Given the description of an element on the screen output the (x, y) to click on. 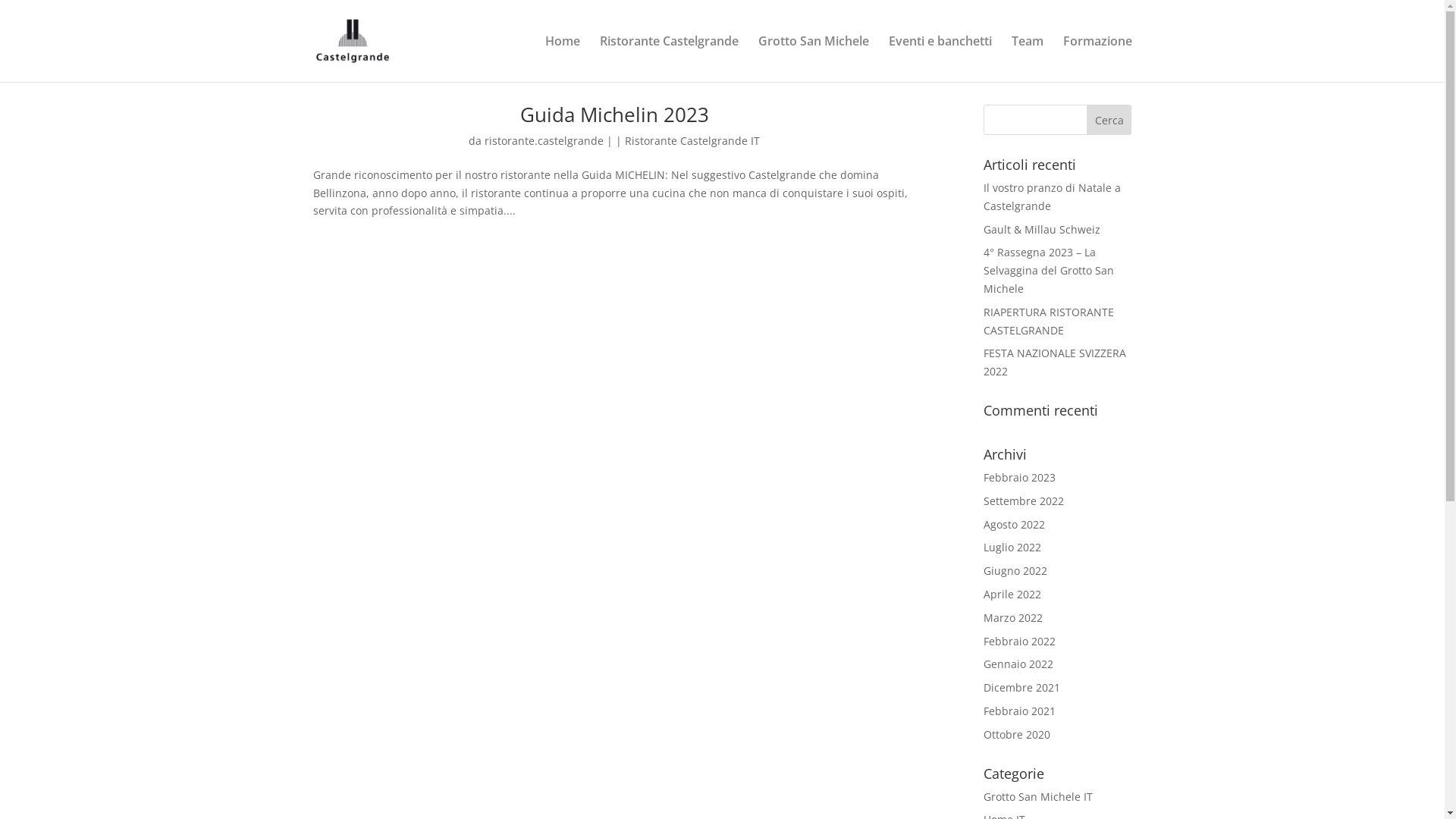
Il vostro pranzo di Natale a Castelgrande Element type: text (1051, 196)
Formazione Element type: text (1097, 58)
Grotto San Michele IT Element type: text (1037, 796)
Gennaio 2022 Element type: text (1018, 663)
Ristorante Castelgrande IT Element type: text (691, 140)
Aprile 2022 Element type: text (1012, 593)
Team Element type: text (1027, 58)
Home Element type: text (561, 58)
Eventi e banchetti Element type: text (939, 58)
Marzo 2022 Element type: text (1012, 617)
Ottobre 2020 Element type: text (1016, 734)
Febbraio 2022 Element type: text (1019, 640)
Settembre 2022 Element type: text (1023, 500)
Luglio 2022 Element type: text (1012, 546)
Gault & Millau Schweiz Element type: text (1041, 229)
Guida Michelin 2023 Element type: text (614, 114)
Febbraio 2023 Element type: text (1019, 477)
Febbraio 2021 Element type: text (1019, 710)
Agosto 2022 Element type: text (1013, 524)
Grotto San Michele Element type: text (813, 58)
Dicembre 2021 Element type: text (1021, 687)
ristorante.castelgrande Element type: text (543, 140)
Cerca Element type: text (1109, 119)
Giugno 2022 Element type: text (1015, 570)
RIAPERTURA RISTORANTE CASTELGRANDE Element type: text (1048, 320)
Ristorante Castelgrande Element type: text (668, 58)
FESTA NAZIONALE SVIZZERA 2022 Element type: text (1054, 361)
